Given the description of an element on the screen output the (x, y) to click on. 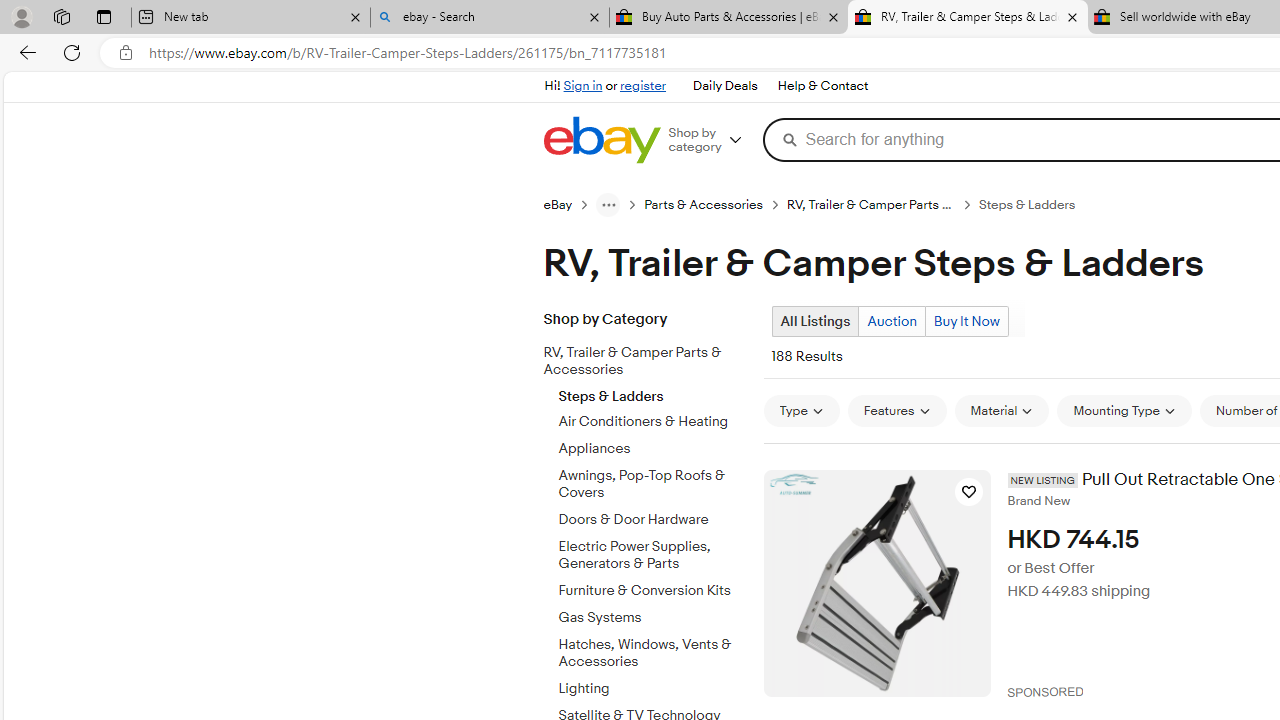
Awnings, Pop-Top Roofs & Covers (653, 485)
Back (24, 52)
Parts & Accessories (703, 205)
